Given the description of an element on the screen output the (x, y) to click on. 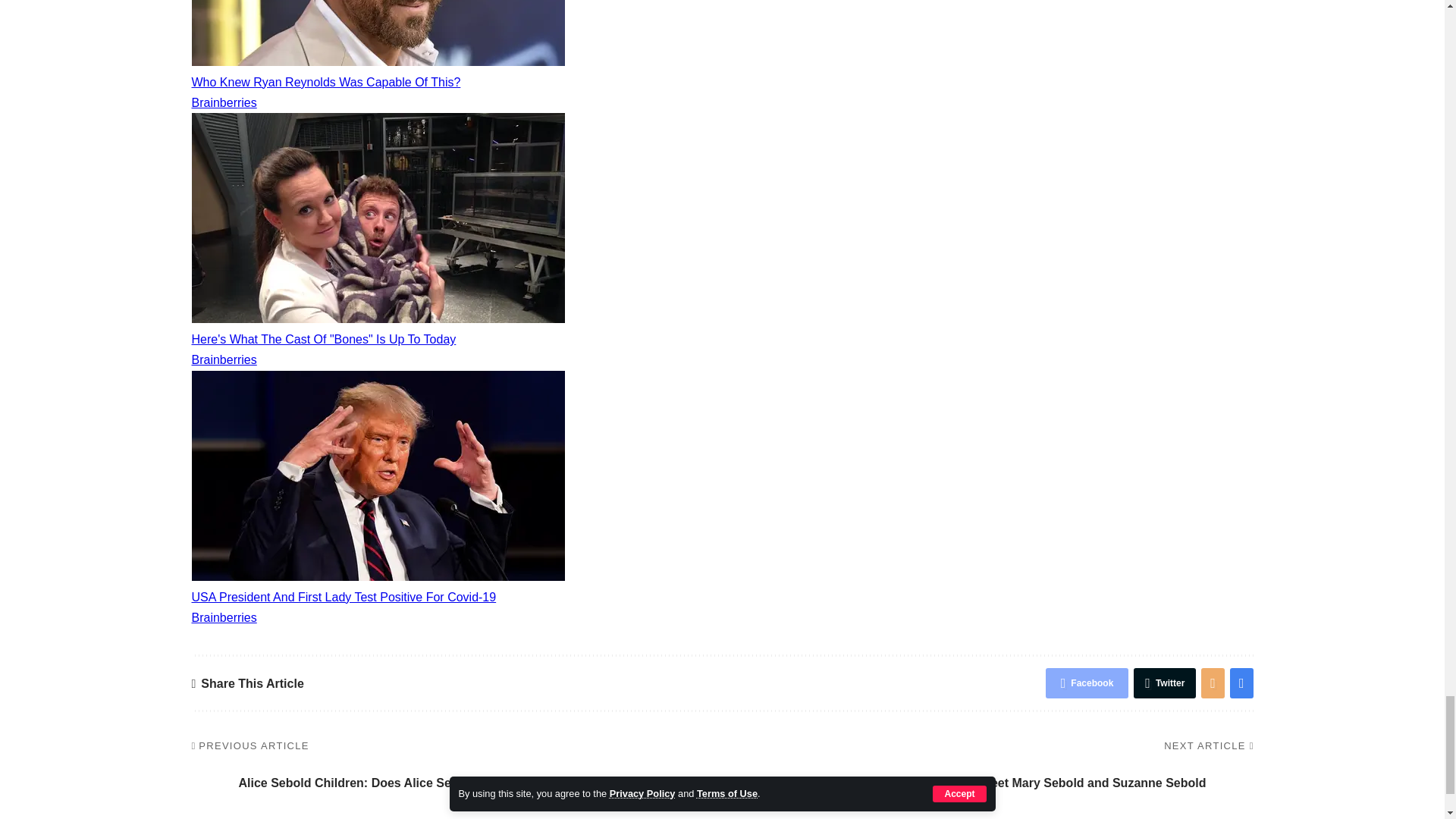
Facebook (1087, 683)
Alice Sebold3 (1233, 782)
Twitter (1164, 683)
Alice Seboldgh (209, 782)
